Given the description of an element on the screen output the (x, y) to click on. 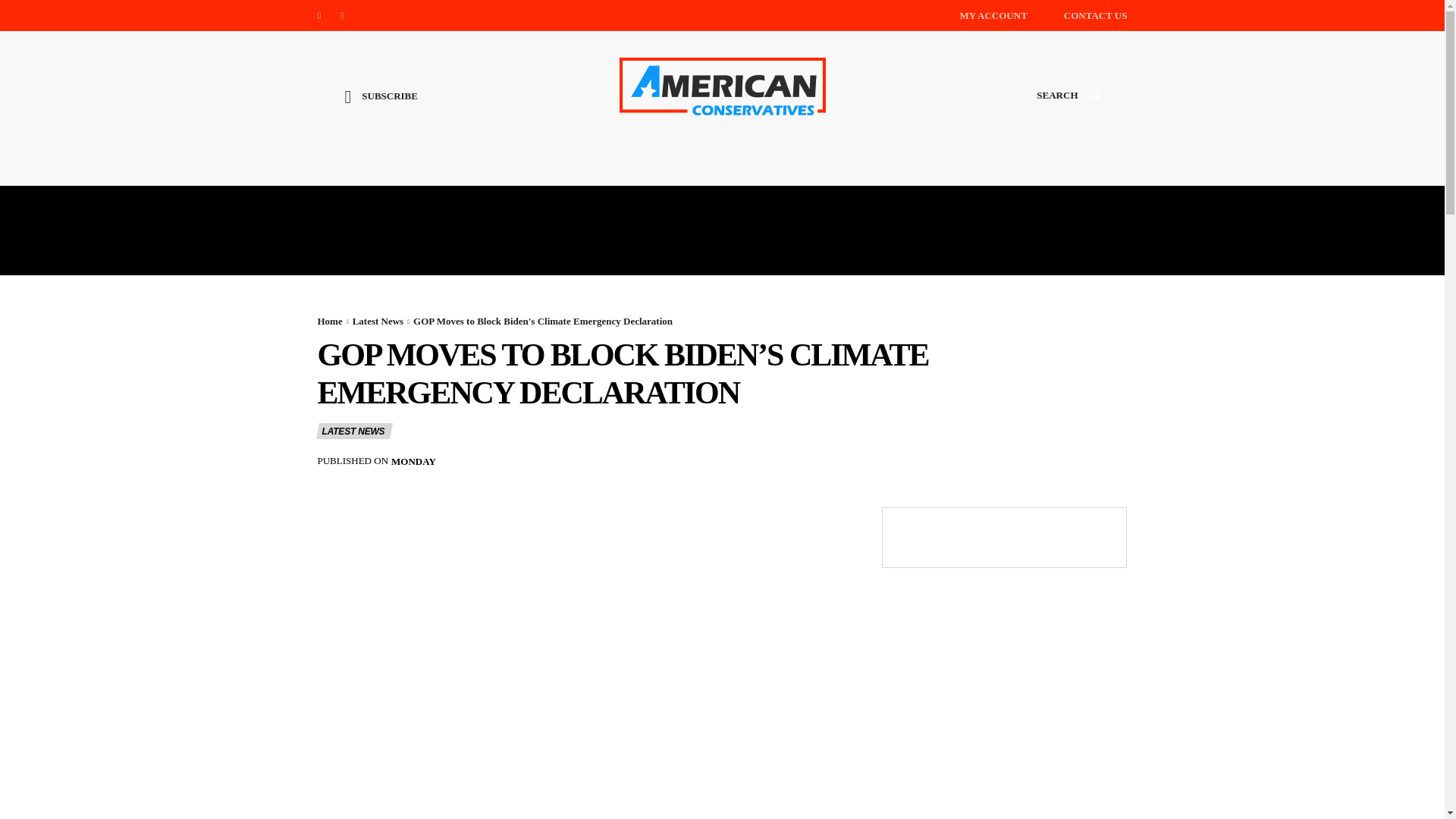
Latest News (378, 320)
MY ACCOUNT (992, 15)
SUBSCRIBE (380, 107)
My Account (992, 15)
CONTACT US (1095, 15)
Facebook (318, 15)
SEARCH (1067, 109)
Contact Us (1095, 15)
Home (329, 320)
Twitter (342, 15)
